Given the description of an element on the screen output the (x, y) to click on. 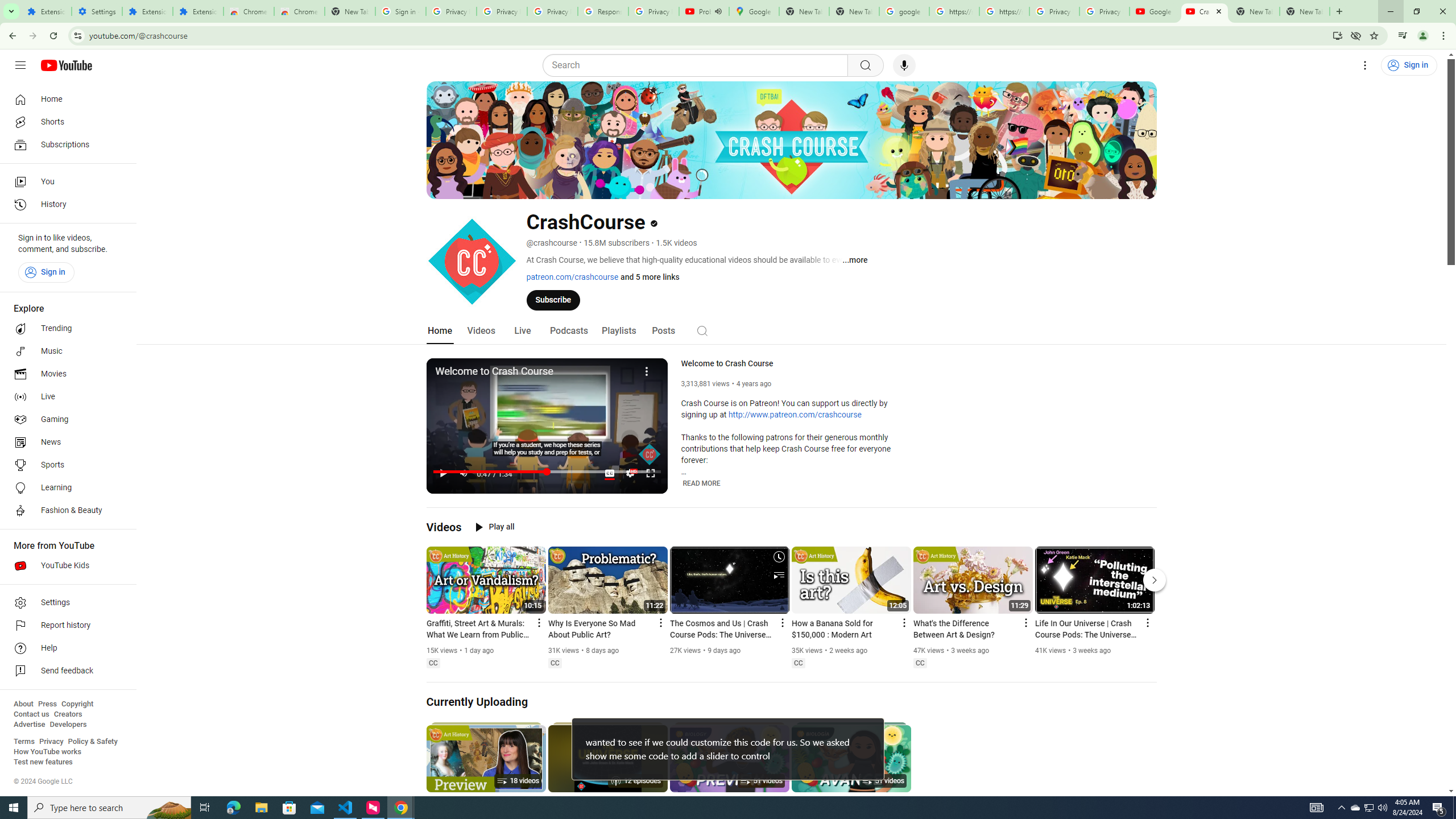
Restore (1416, 11)
Podcasts (568, 330)
Home (64, 99)
Sign in - Google Accounts (399, 11)
Back (10, 35)
Help (64, 648)
Guide (20, 65)
New Tab (1338, 11)
Videos (481, 330)
Sports (64, 464)
Search tabs (10, 11)
Live (64, 396)
